Given the description of an element on the screen output the (x, y) to click on. 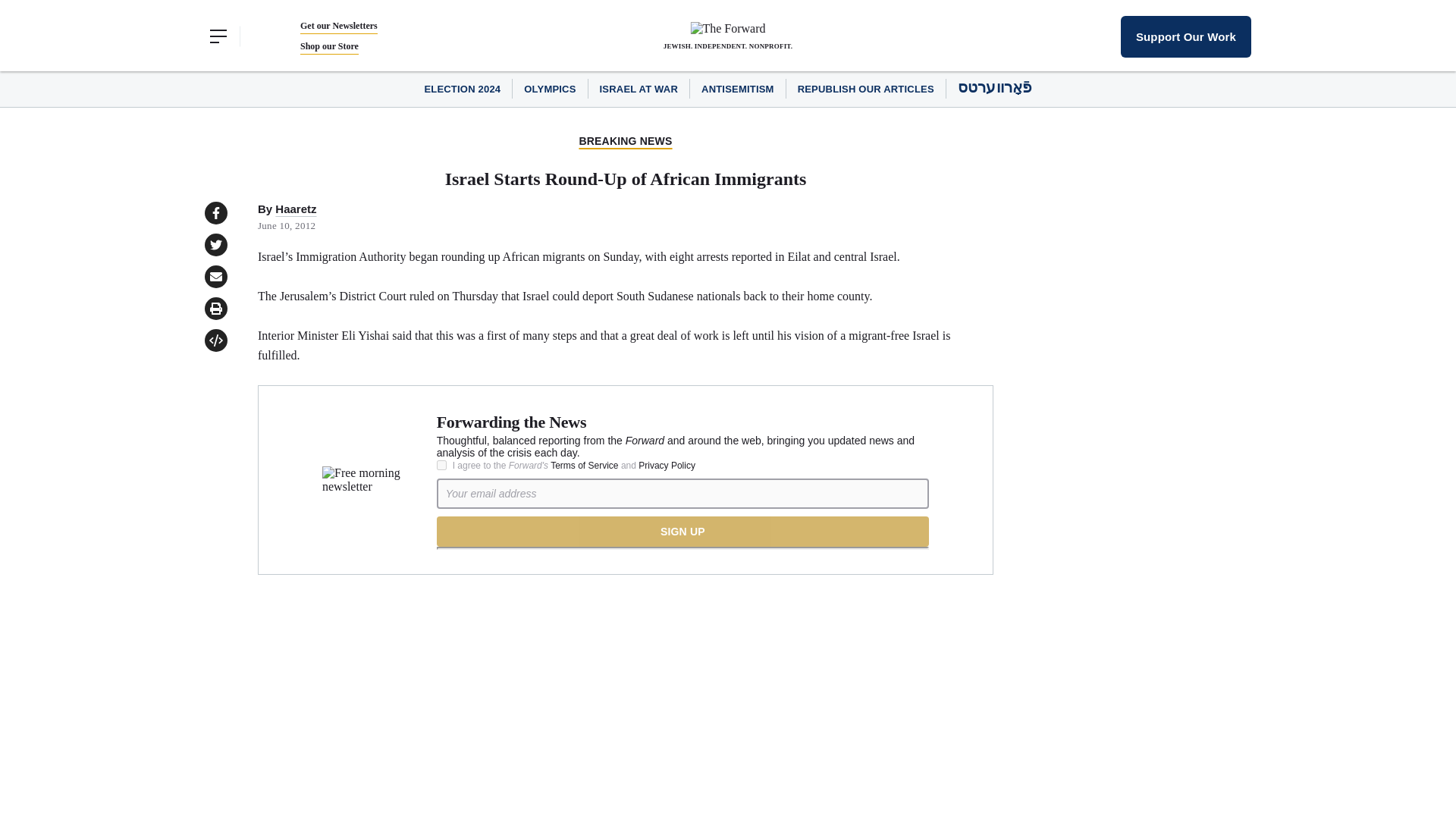
Sign Up (682, 531)
Yes (441, 465)
Get our Newsletters (338, 26)
Shop our Store (328, 46)
ELECTION 2024 (461, 89)
Click to open publish popup (216, 340)
Support Our Work (1185, 35)
ISRAEL AT WAR (638, 89)
OLYMPICS (549, 89)
